Given the description of an element on the screen output the (x, y) to click on. 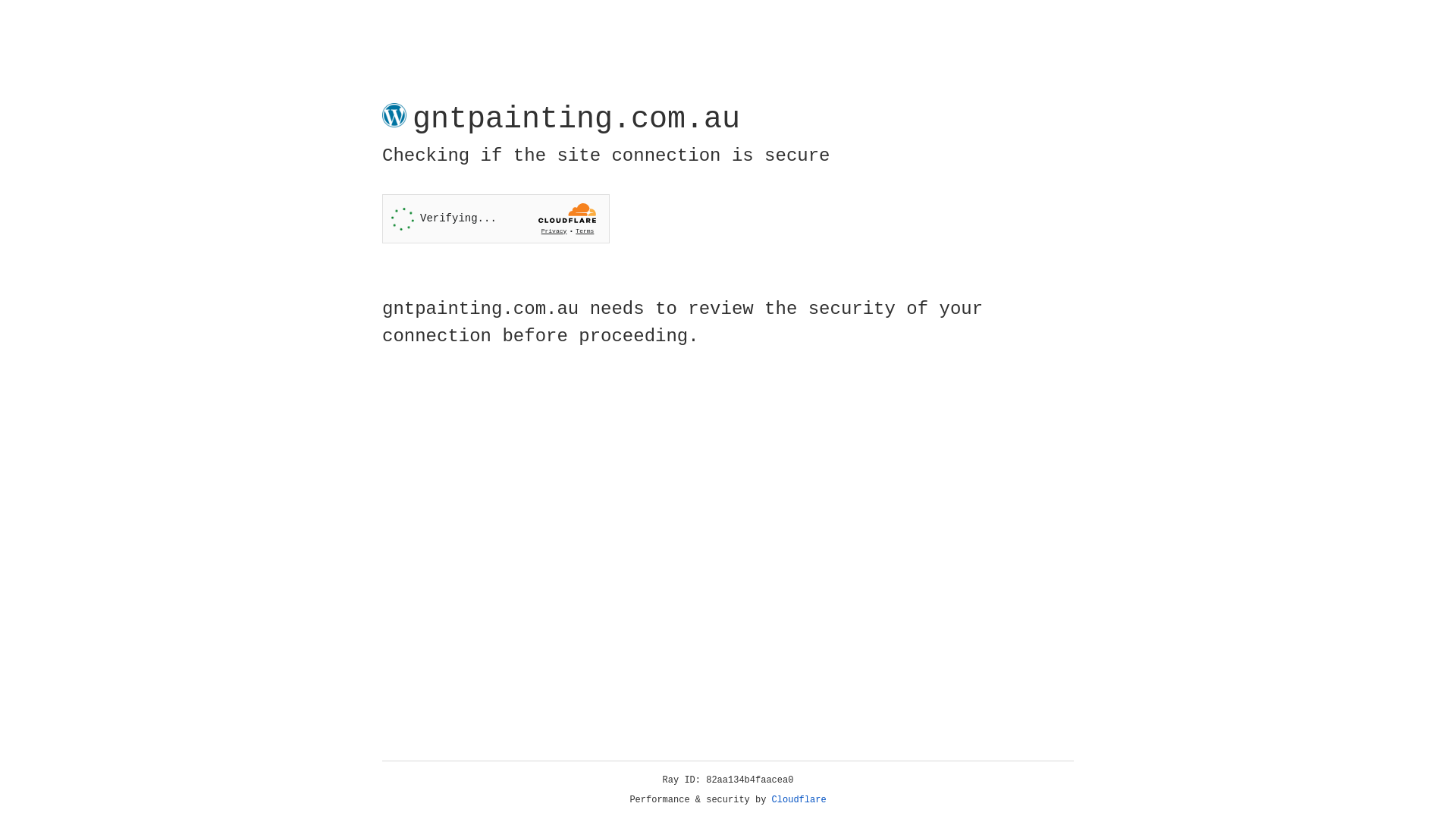
Widget containing a Cloudflare security challenge Element type: hover (495, 218)
Cloudflare Element type: text (798, 799)
